Given the description of an element on the screen output the (x, y) to click on. 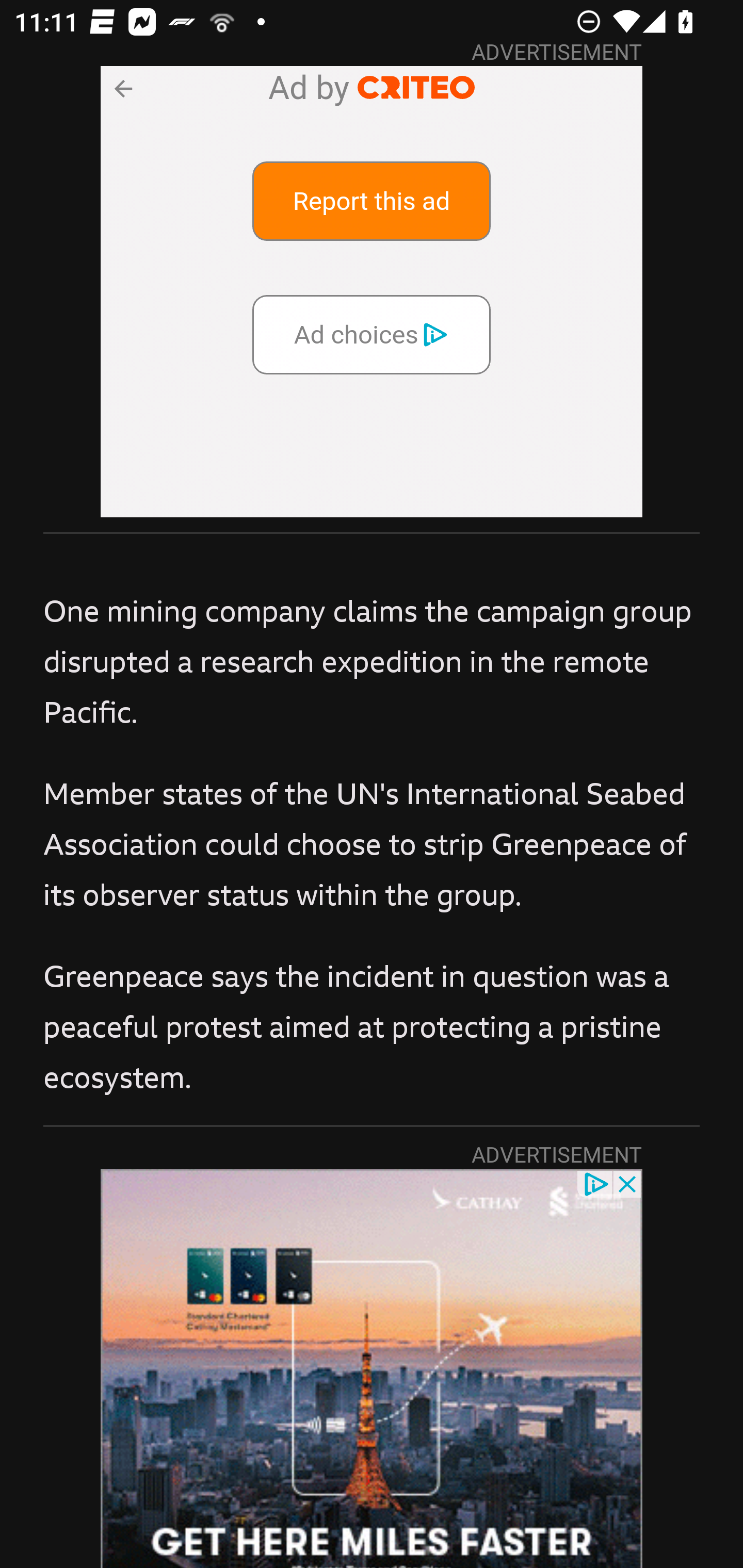
back_button2 (121, 87)
Report this ad (371, 200)
Ad choices Ad choices privacy (371, 333)
privacy_small (595, 1182)
close_button (627, 1182)
